Given the description of an element on the screen output the (x, y) to click on. 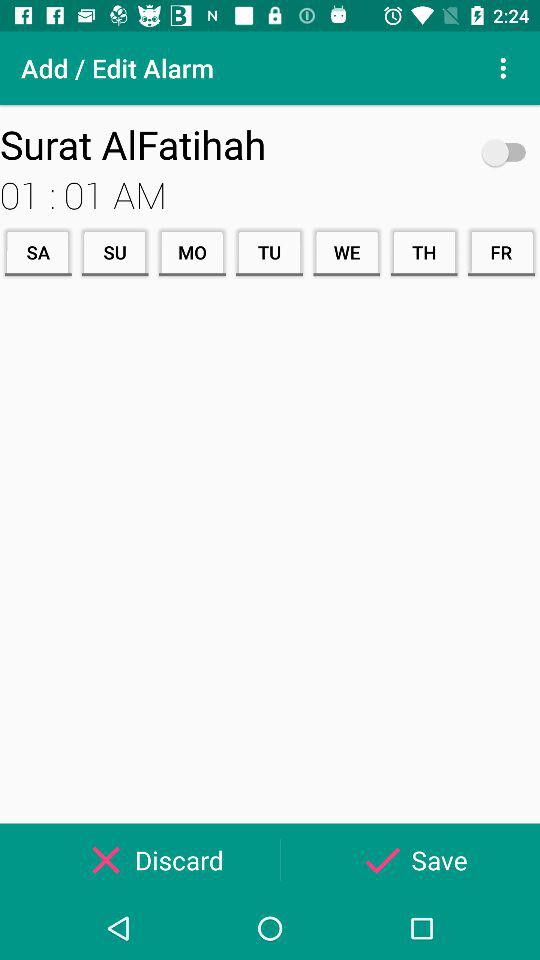
press icon below 01 : 01 am item (38, 251)
